Given the description of an element on the screen output the (x, y) to click on. 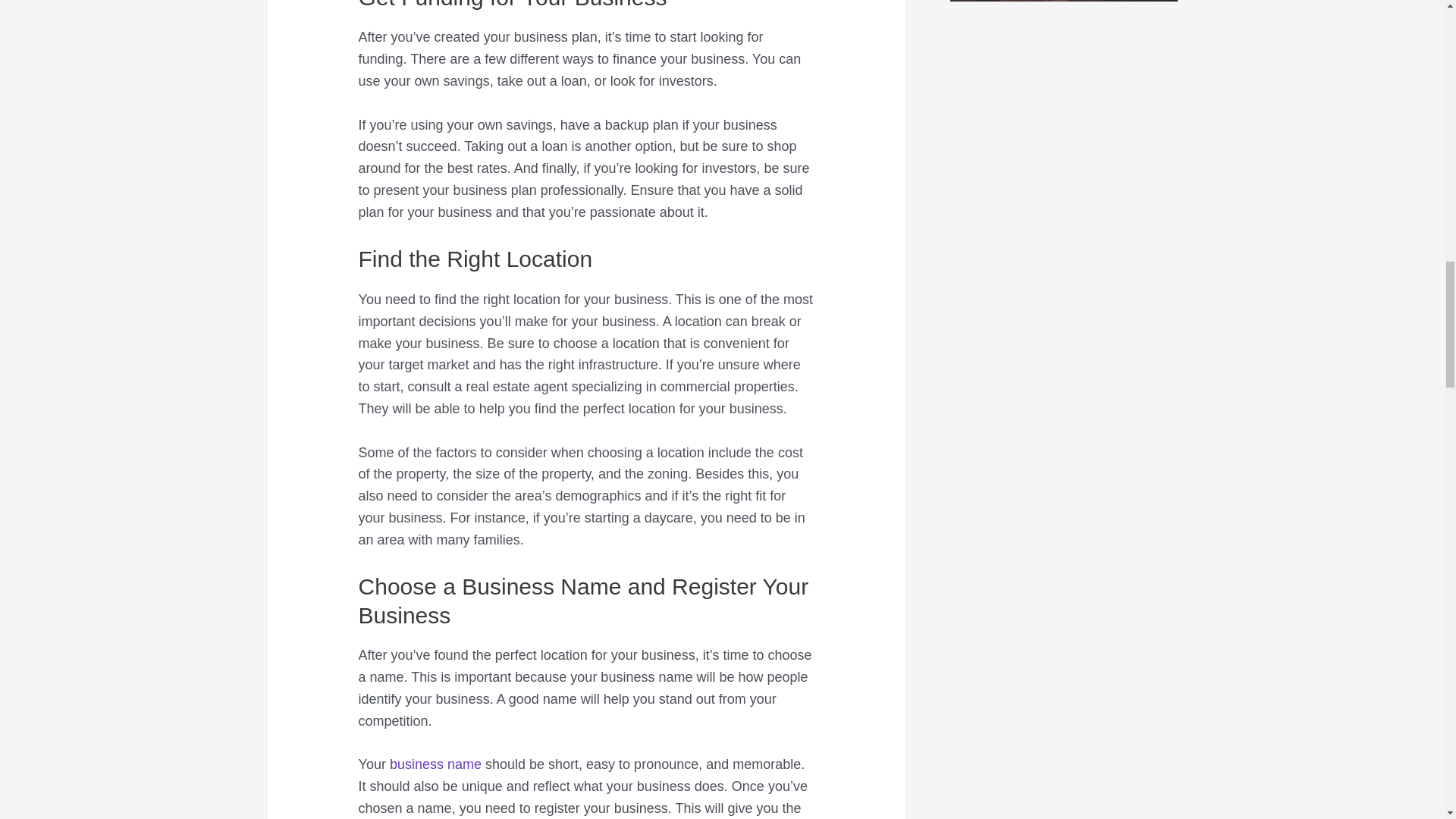
business name (435, 764)
